Given the description of an element on the screen output the (x, y) to click on. 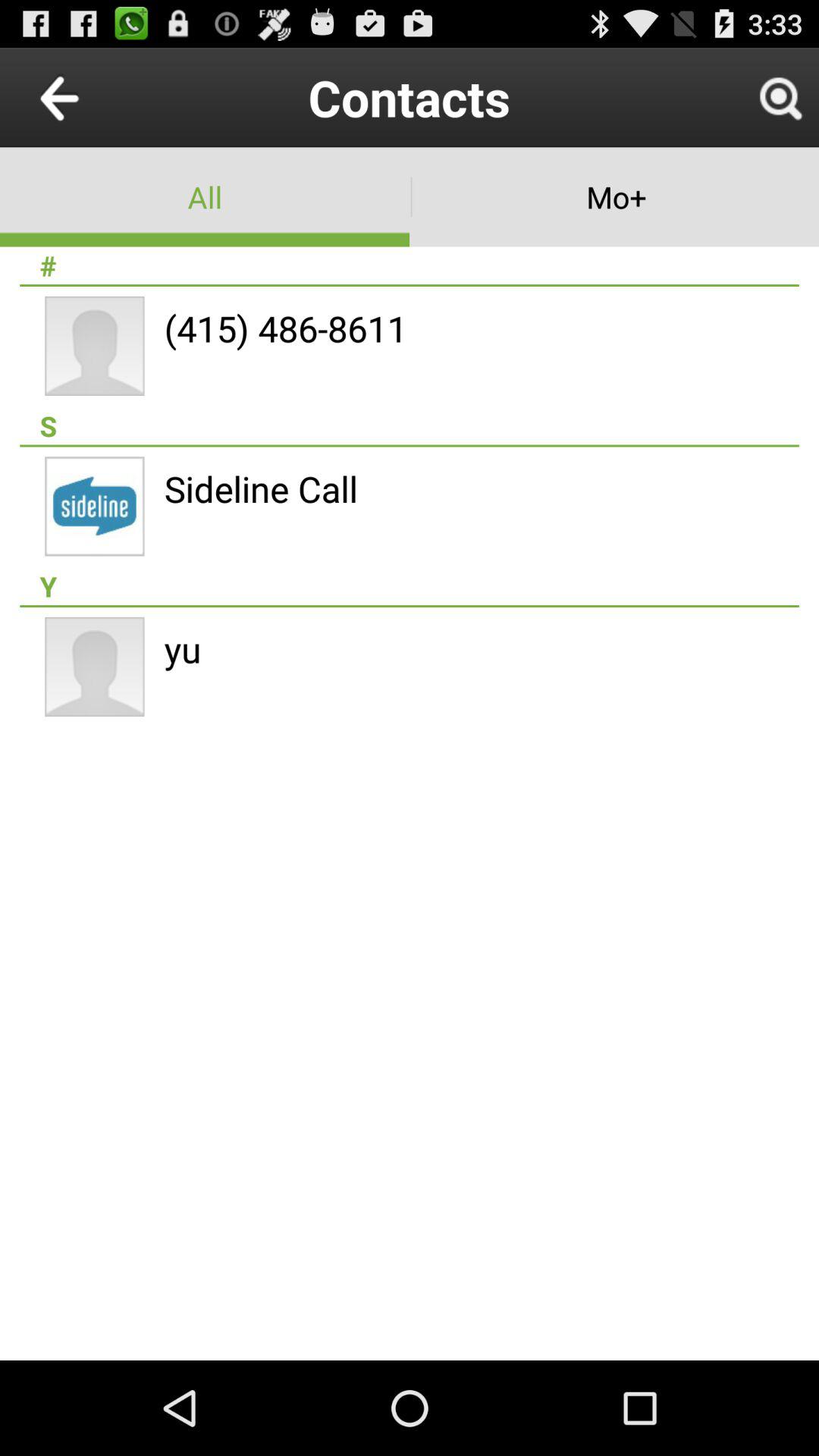
flip to s (409, 425)
